Given the description of an element on the screen output the (x, y) to click on. 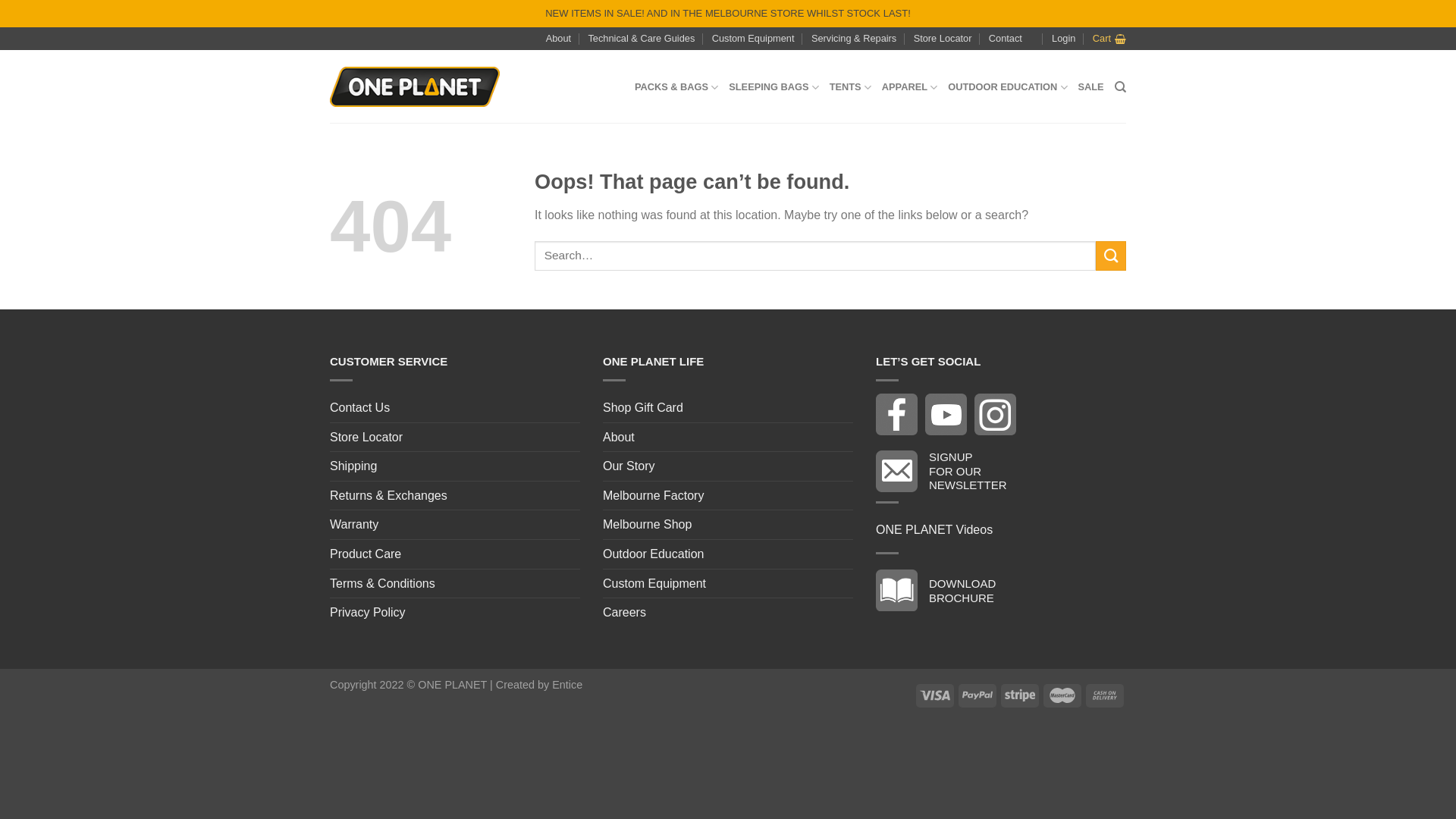
Servicing & Repairs Element type: text (853, 38)
Shop Gift Card Element type: text (642, 407)
Privacy Policy Element type: text (367, 612)
Custom Equipment Element type: text (753, 38)
Shipping Element type: text (352, 465)
Melbourne Factory Element type: text (652, 495)
Contact Us Element type: text (359, 407)
TENTS Element type: text (850, 86)
Melbourne Shop Element type: text (646, 524)
SALE Element type: text (1091, 86)
Returns & Exchanges Element type: text (388, 495)
About Element type: text (618, 437)
ONE PLANET - Australian Outdoor Equipment Element type: hover (414, 86)
Custom Equipment Element type: text (654, 583)
Entice Element type: text (567, 684)
OUTDOOR EDUCATION Element type: text (1006, 86)
SIGNUP
FOR OUR
NEWSLETTER Element type: text (944, 470)
Technical & Care Guides Element type: text (640, 38)
PACKS & BAGS Element type: text (676, 86)
Contact Element type: text (1005, 38)
Product Care Element type: text (365, 553)
Login Element type: text (1063, 38)
Terms & Conditions Element type: text (382, 583)
Careers Element type: text (624, 612)
Store Locator Element type: text (365, 437)
APPAREL Element type: text (909, 86)
Our Story Element type: text (628, 465)
Outdoor Education Element type: text (652, 553)
SLEEPING BAGS Element type: text (773, 86)
DOWNLOAD
BROCHURE Element type: text (939, 589)
Cart Element type: text (1109, 38)
Warranty Element type: text (353, 524)
ONE PLANET Videos Element type: text (933, 529)
Store Locator Element type: text (942, 38)
About Element type: text (558, 38)
